Given the description of an element on the screen output the (x, y) to click on. 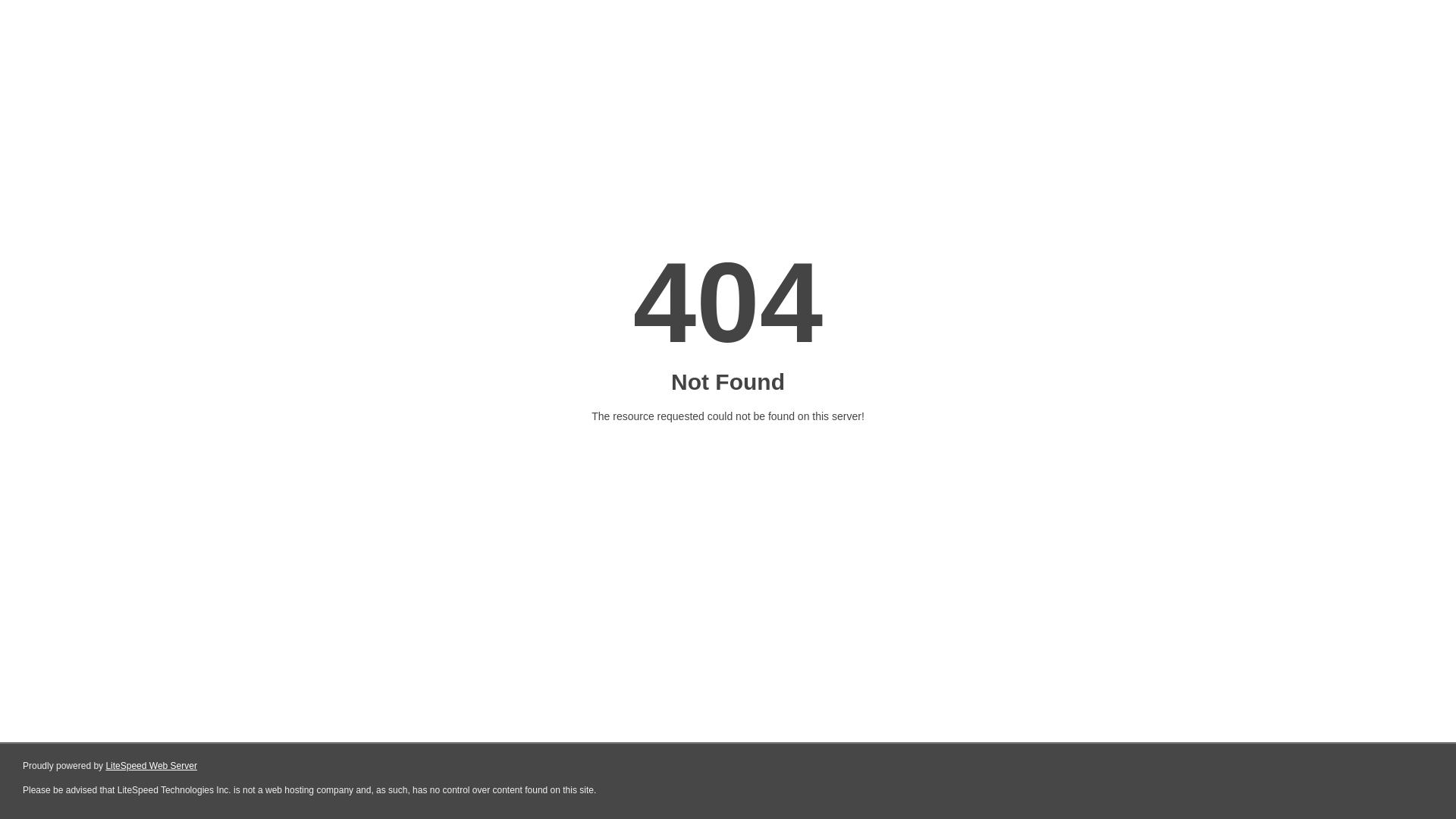
LiteSpeed Web Server Element type: text (151, 765)
